Given the description of an element on the screen output the (x, y) to click on. 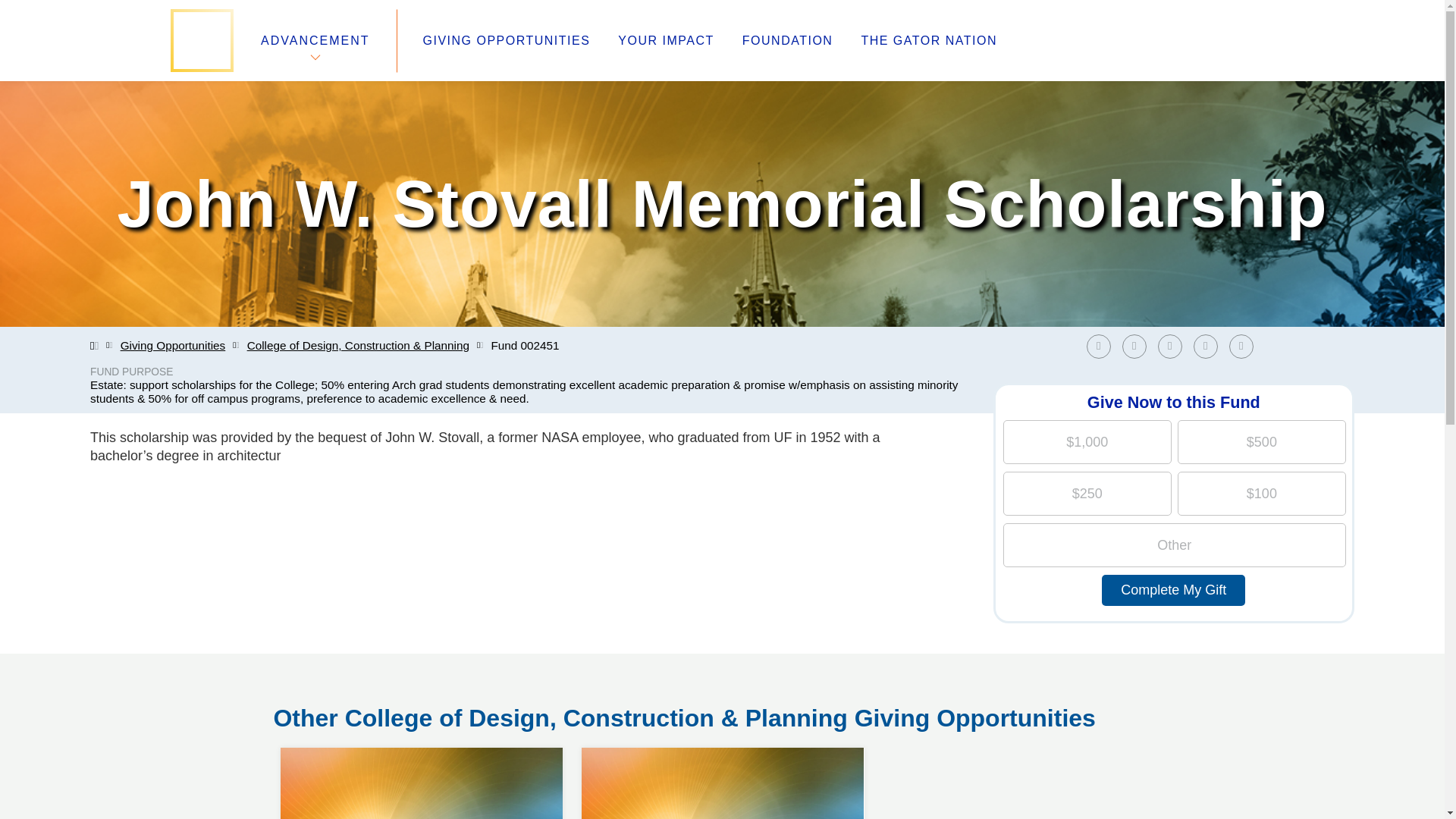
YOUR IMPACT (665, 40)
Foundation Board (327, 704)
Share on Facebook (1098, 346)
Share on Facebook (1102, 345)
Complete My Gift (721, 747)
Disclosures (1173, 590)
Contact Us (537, 723)
Advancement Toolkit (306, 723)
Staff Directory (565, 686)
Share on Reddit (316, 686)
Share by Email (421, 747)
University of Florida (1209, 345)
Share on Twitter (1244, 345)
